Given the description of an element on the screen output the (x, y) to click on. 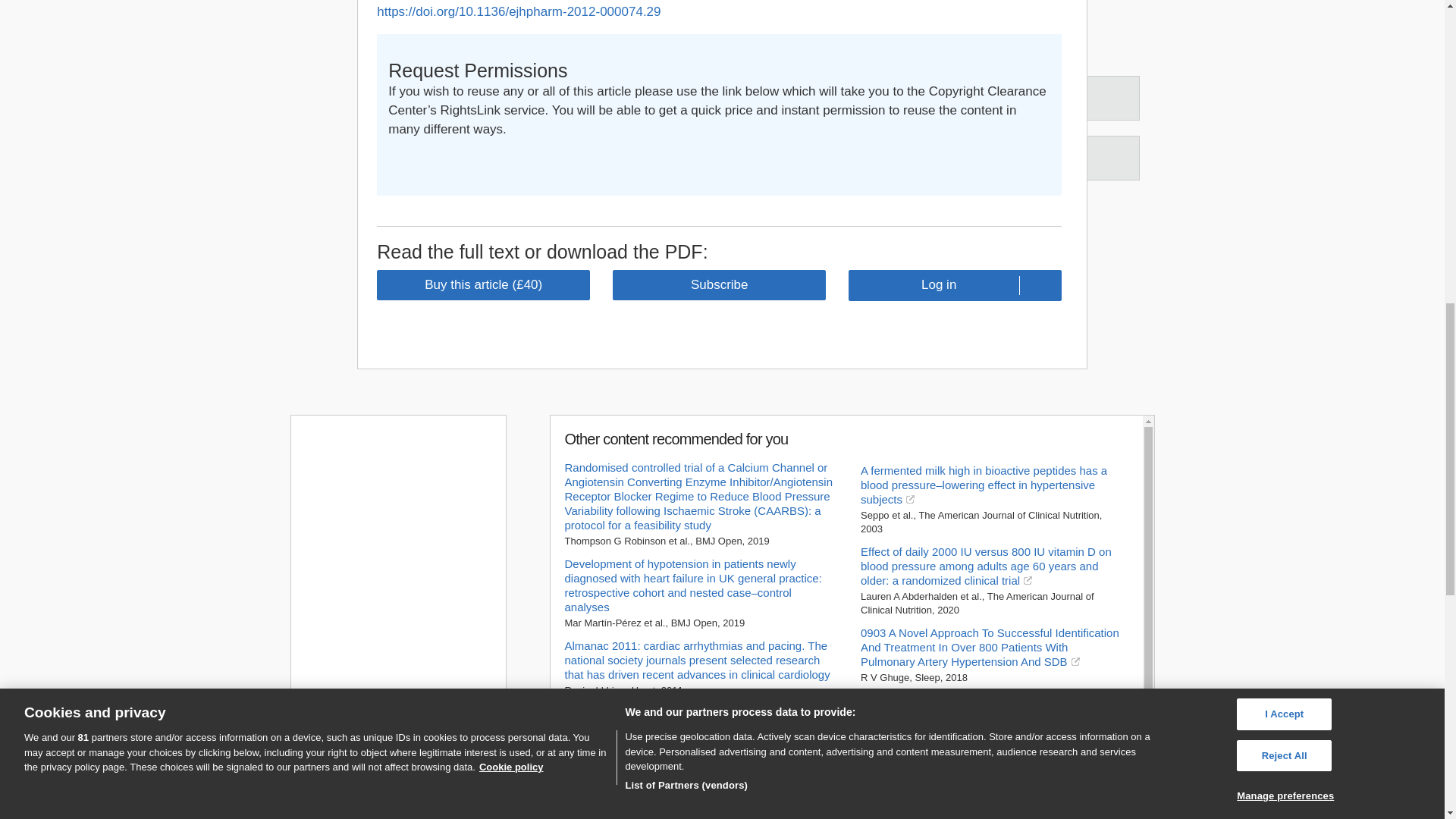
careers widget (397, 603)
